Given the description of an element on the screen output the (x, y) to click on. 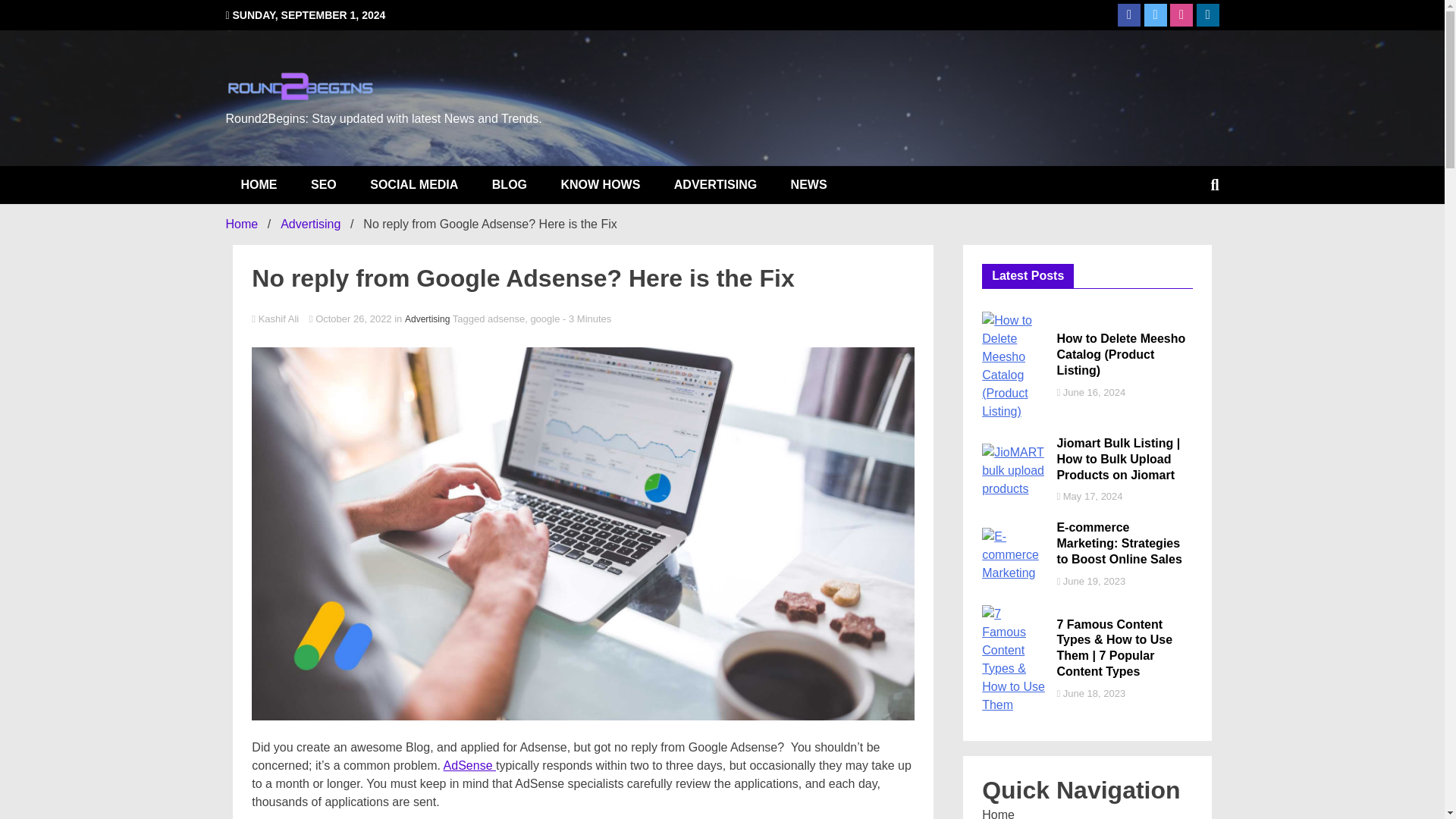
HOME (258, 184)
SOCIAL MEDIA (414, 184)
Estimated Reading Time of Article (586, 318)
Kashif Ali (582, 318)
KNOW HOWS (599, 184)
adsense (505, 318)
NEWS (809, 184)
Home (242, 223)
SEO (323, 184)
October 26, 2022 (351, 318)
